Given the description of an element on the screen output the (x, y) to click on. 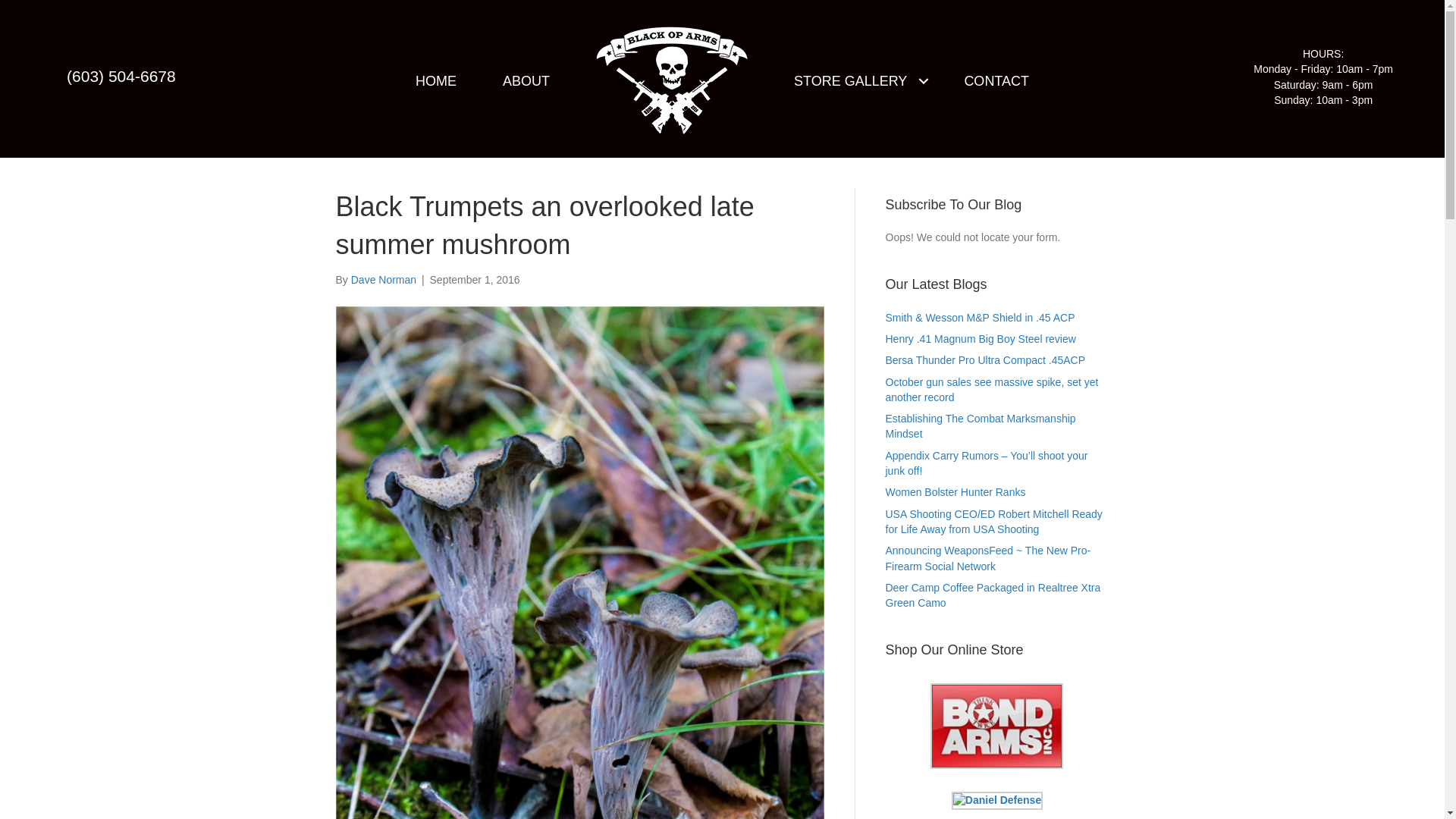
October gun sales see massive spike, set yet another record (992, 389)
Bersa Thunder Pro Ultra Compact .45ACP (985, 359)
CONTACT (995, 80)
Dave Norman (383, 279)
Women Bolster Hunter Ranks (955, 491)
Deer Camp Coffee Packaged in Realtree Xtra Green Camo (992, 595)
ABOUT (526, 80)
HOME (436, 80)
STORE GALLERY (855, 80)
Establishing The Combat Marksmanship Mindset (980, 425)
